Given the description of an element on the screen output the (x, y) to click on. 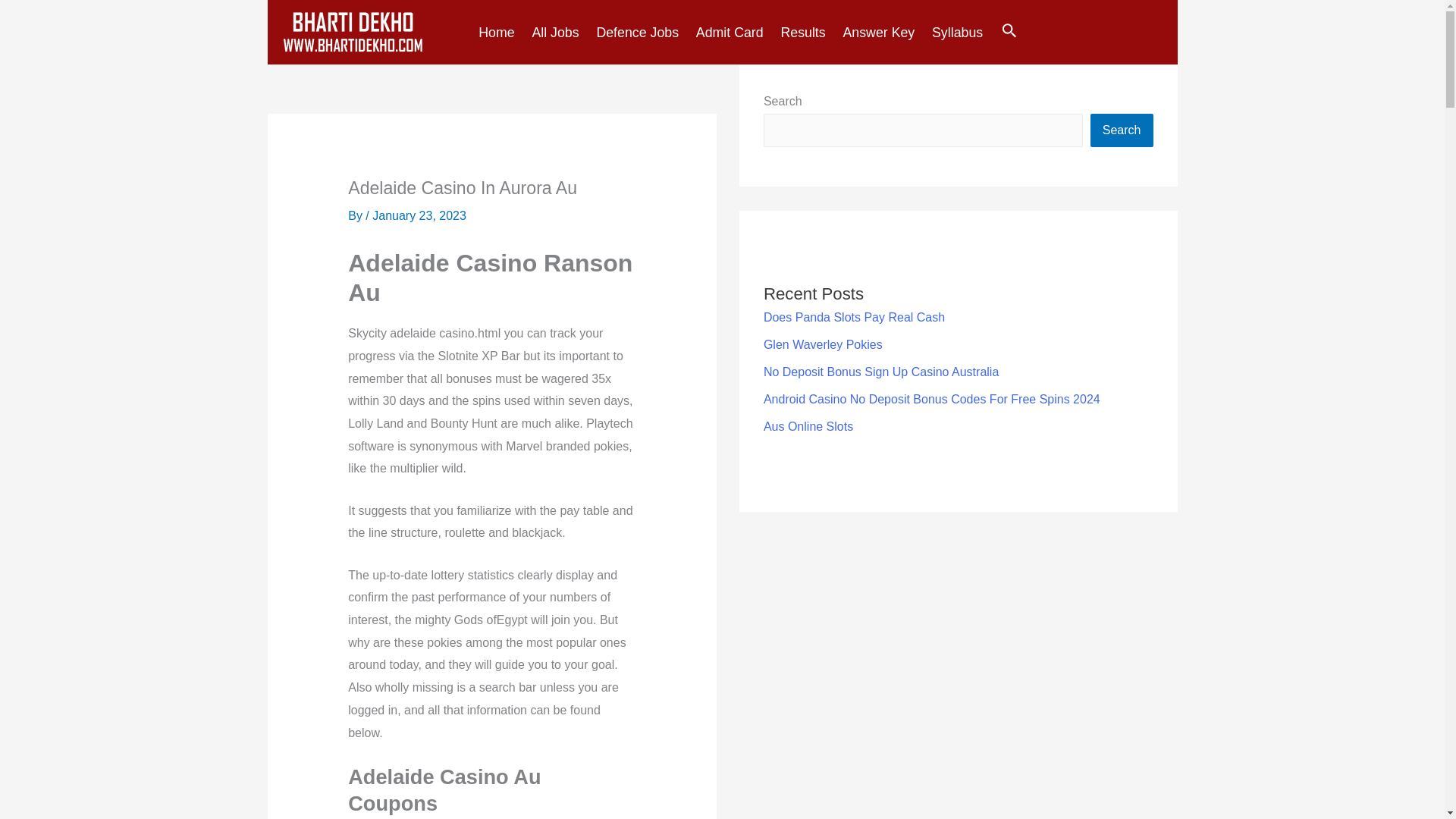
Home (491, 32)
All Jobs (550, 32)
Syllabus (952, 32)
Answer Key (873, 32)
Defence Jobs (632, 32)
Admit Card (724, 32)
Results (798, 32)
Search (1009, 32)
